Given the description of an element on the screen output the (x, y) to click on. 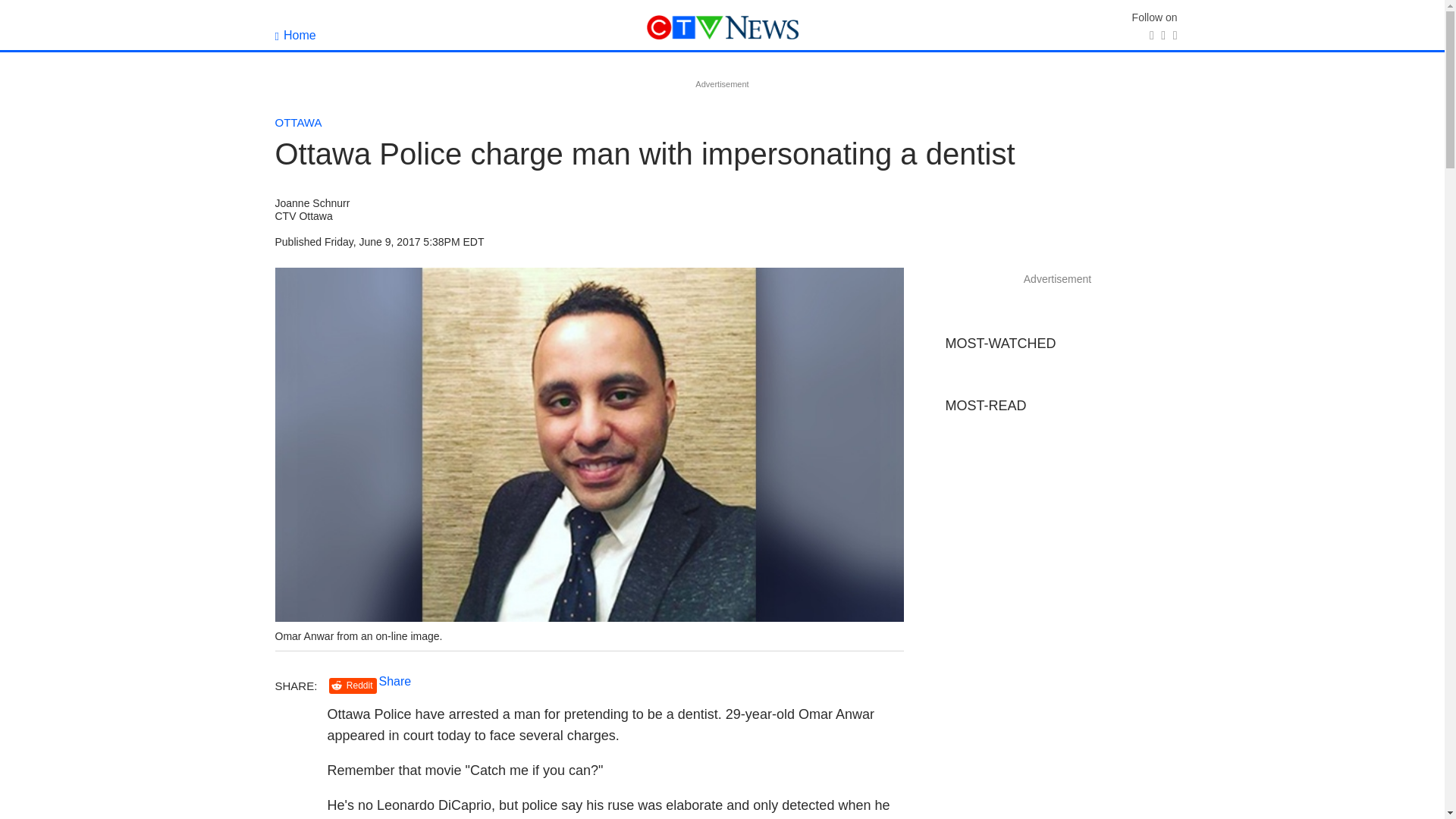
Home (295, 34)
OTTAWA (298, 122)
Share (395, 680)
Reddit (353, 685)
